Given the description of an element on the screen output the (x, y) to click on. 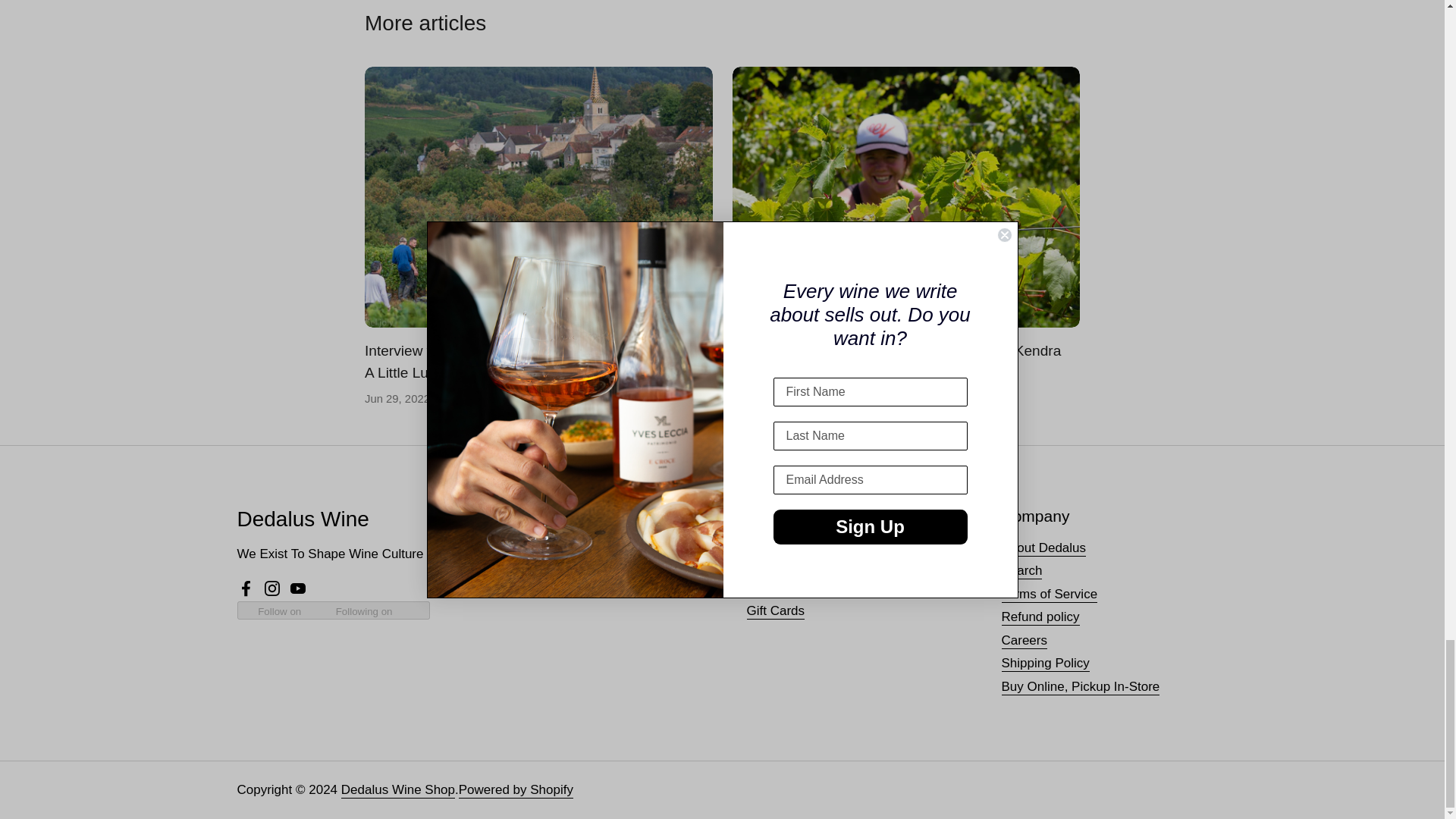
Vermont Wine Scene: Meet Ellison Estate's Kendra Knapik (906, 196)
Vermont Wine Scene: Meet Ellison Estate's Kendra Knapik (896, 361)
Dedalus Locations (544, 548)
